Given the description of an element on the screen output the (x, y) to click on. 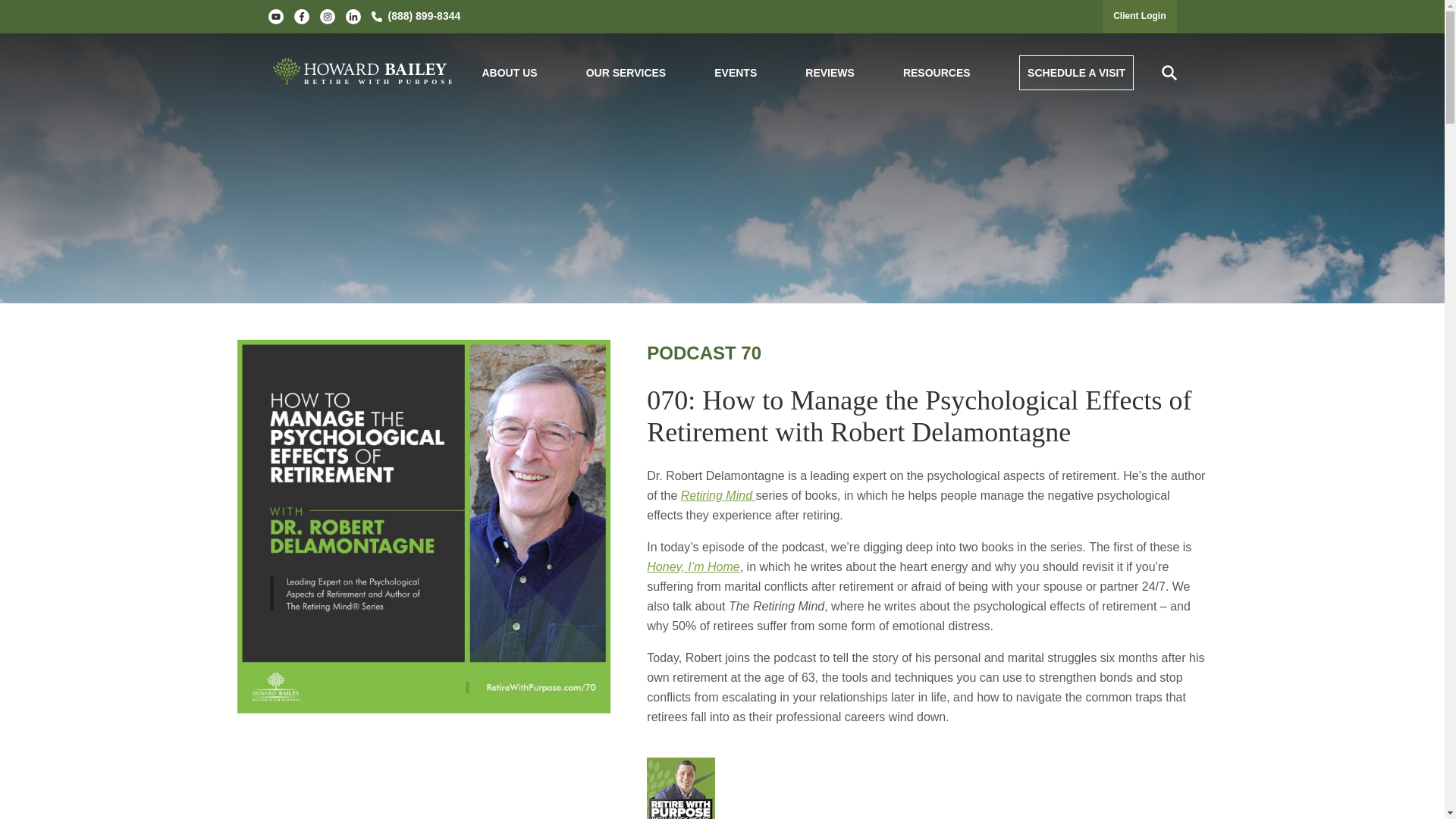
OUR SERVICES (626, 72)
EVENTS (735, 72)
ABOUT US (509, 72)
RESOURCES (936, 72)
Client Login (1139, 16)
SCHEDULE A VISIT (1077, 72)
REVIEWS (829, 72)
